Given the description of an element on the screen output the (x, y) to click on. 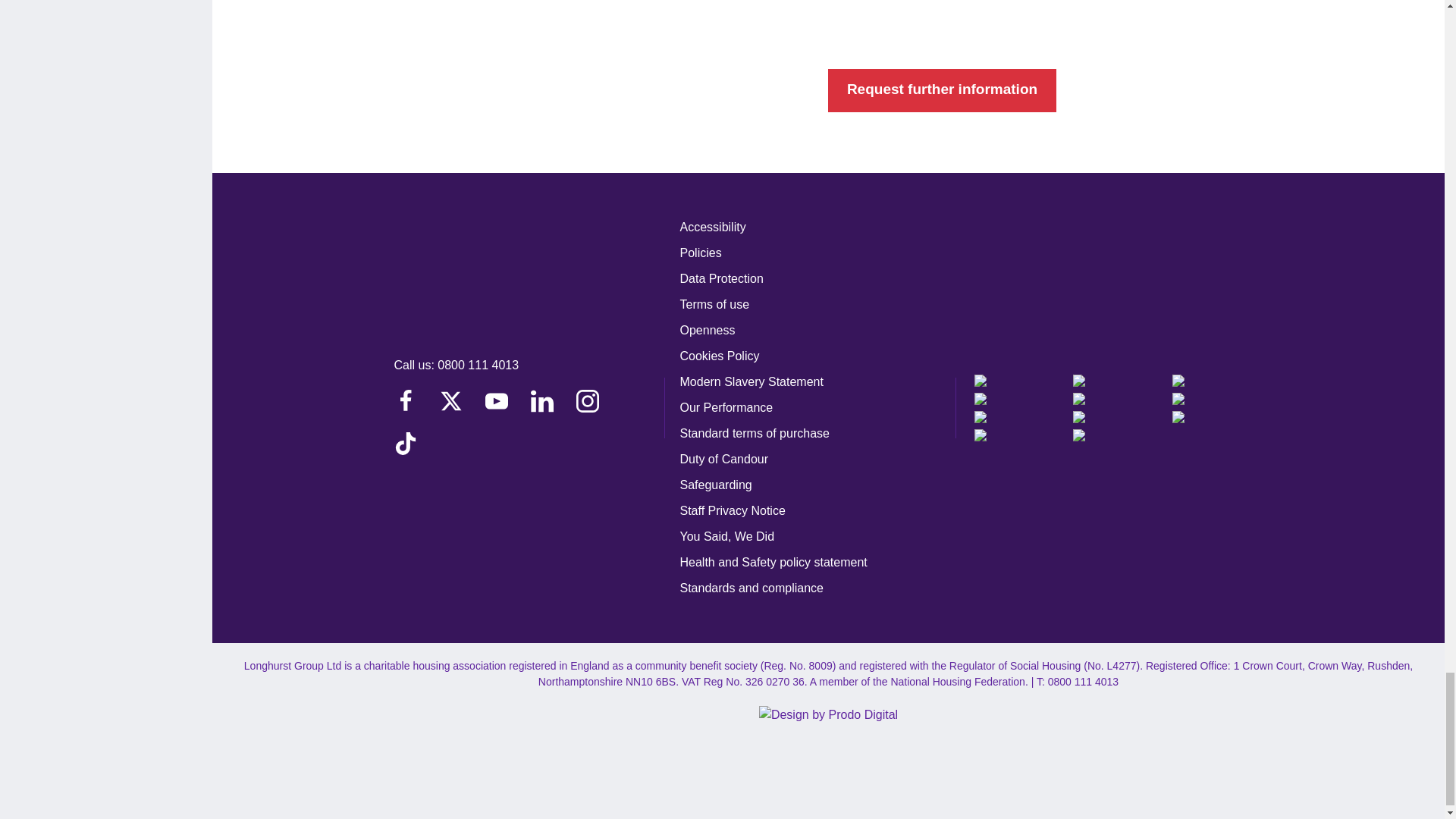
Homes England (1119, 380)
Best companies (1020, 380)
Disability Confident Employer (1020, 398)
National Federation of Housing (1218, 380)
